Given the description of an element on the screen output the (x, y) to click on. 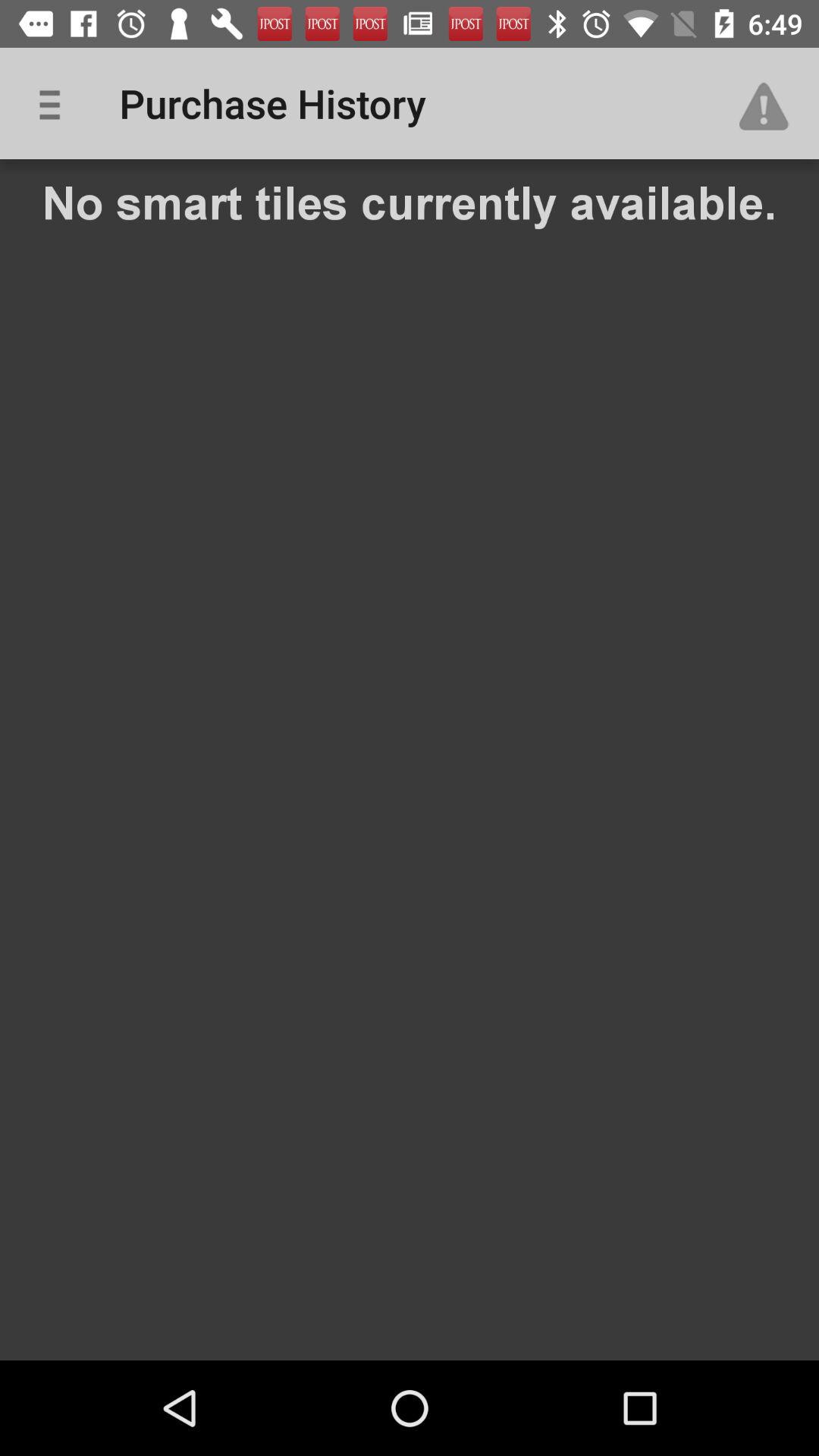
choose icon at the top right corner (771, 103)
